Given the description of an element on the screen output the (x, y) to click on. 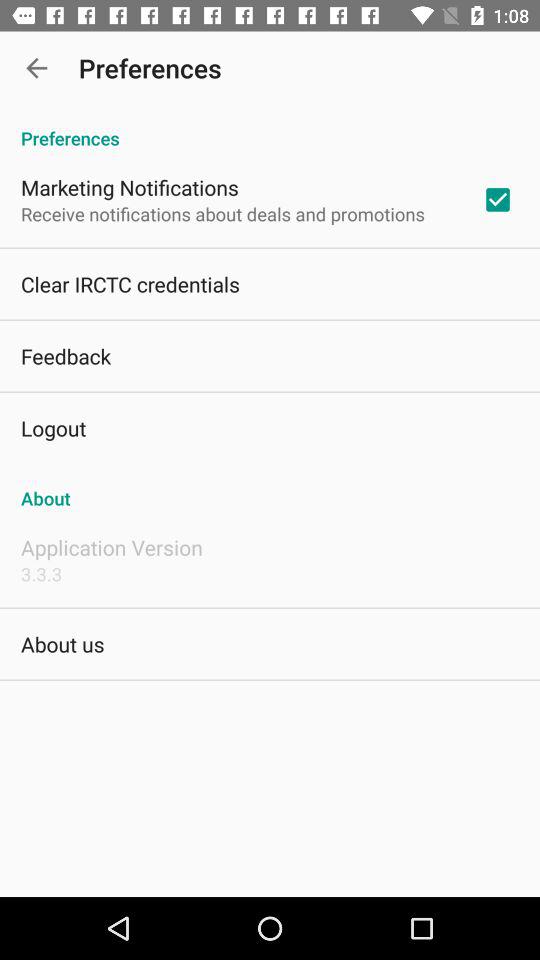
launch app below the preferences app (497, 199)
